Given the description of an element on the screen output the (x, y) to click on. 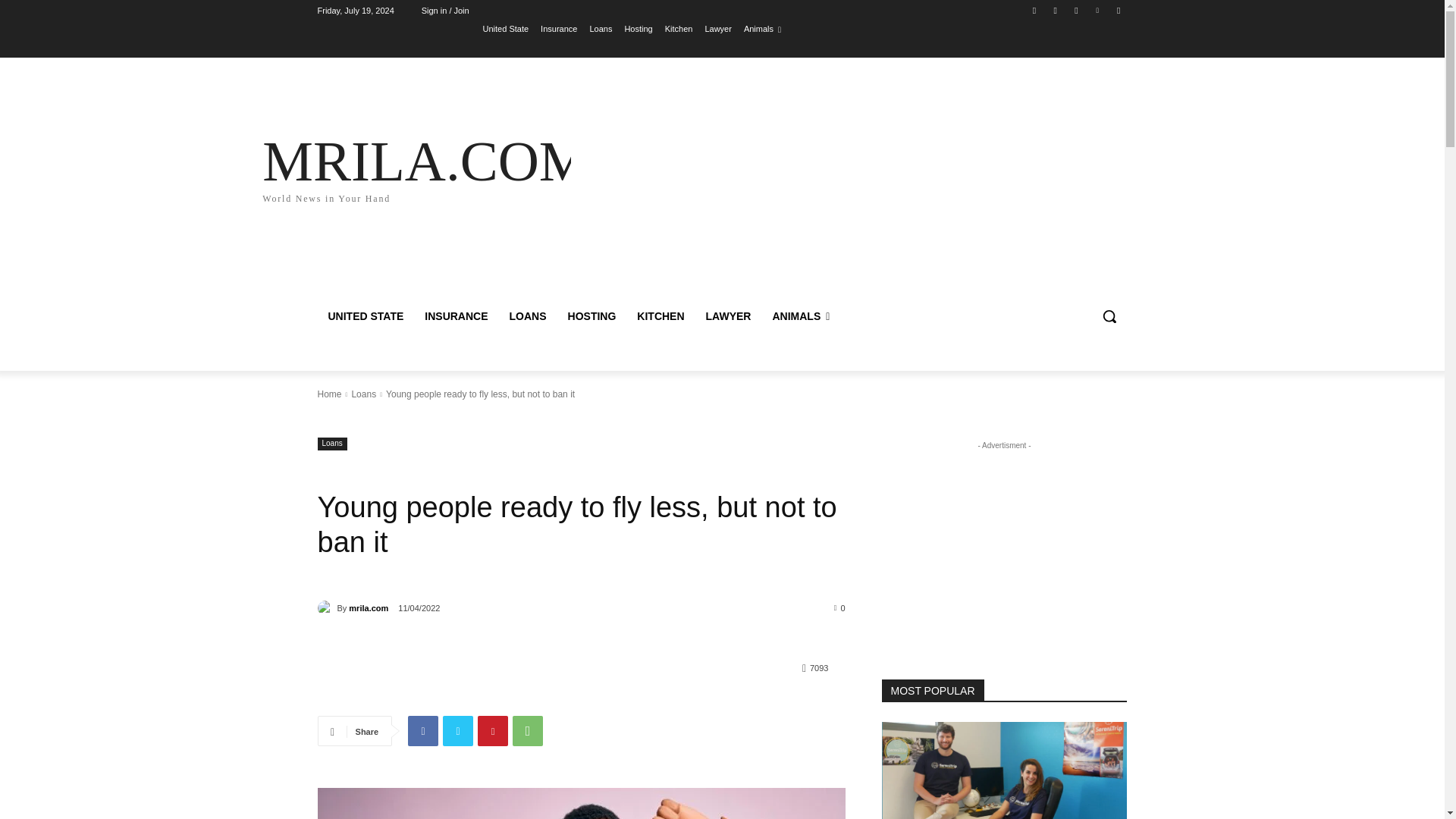
UNITED STATE (365, 316)
United State (506, 28)
Kitchen (679, 28)
Advertisement (854, 184)
Youtube (1117, 9)
Facebook (1034, 9)
ANIMALS (800, 316)
Vimeo (425, 166)
View all posts in Loans (1097, 9)
Twitter (362, 394)
HOSTING (1075, 9)
mrila.com (592, 316)
Twitter (326, 607)
Loans (457, 730)
